Given the description of an element on the screen output the (x, y) to click on. 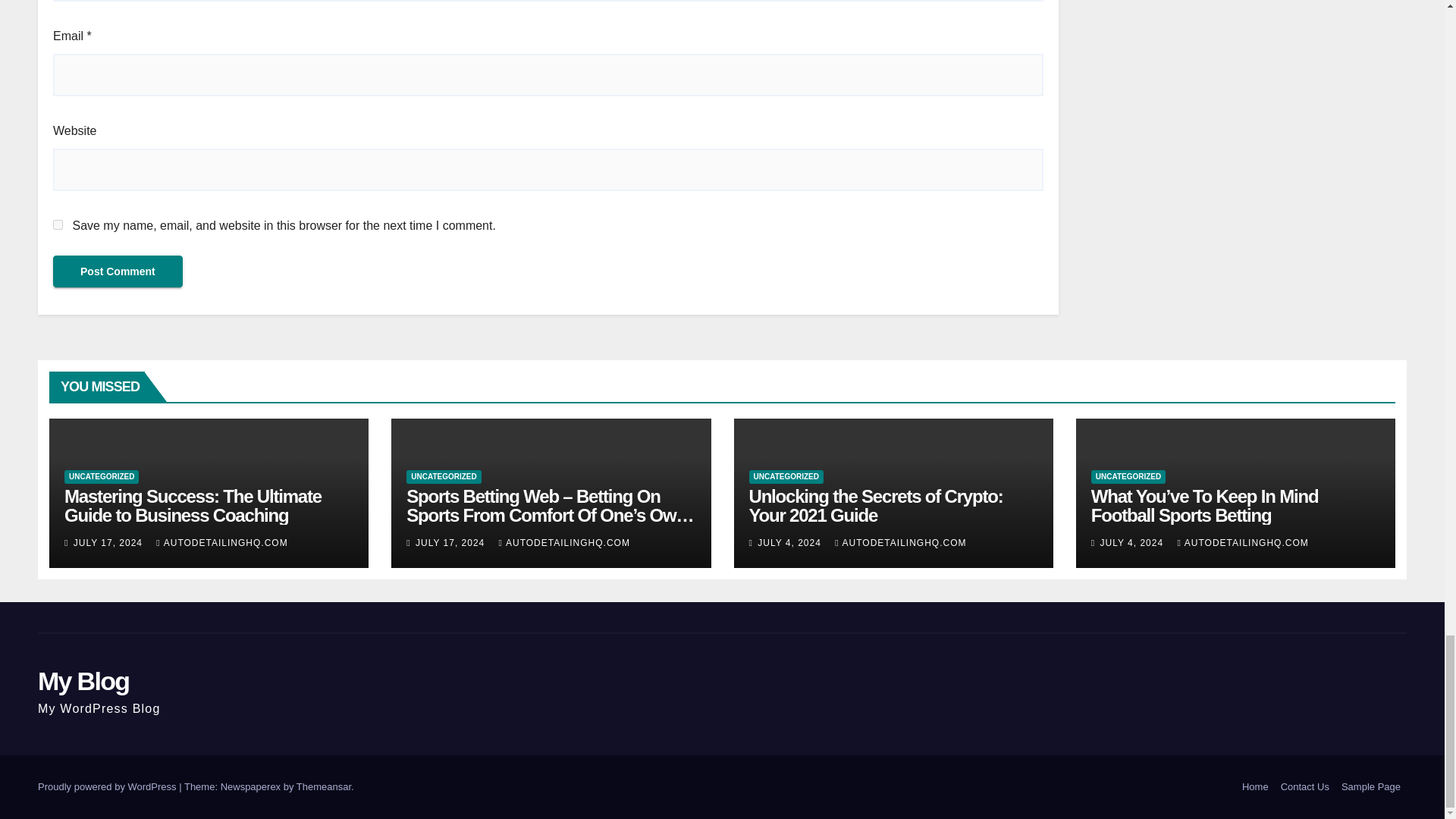
Post Comment (117, 271)
yes (57, 225)
Home (1255, 786)
Post Comment (117, 271)
